Given the description of an element on the screen output the (x, y) to click on. 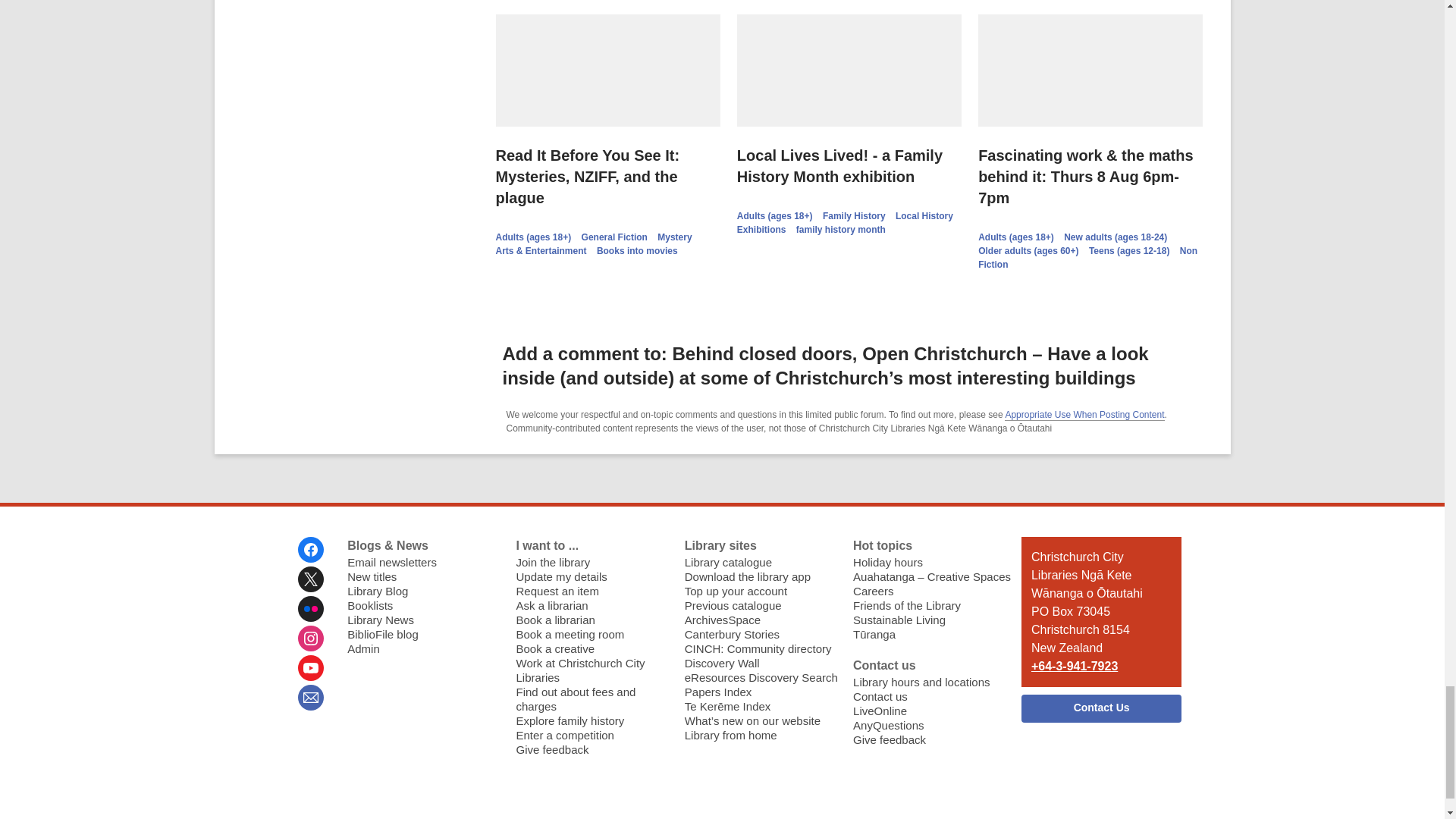
All our locations and hours (921, 681)
